Given the description of an element on the screen output the (x, y) to click on. 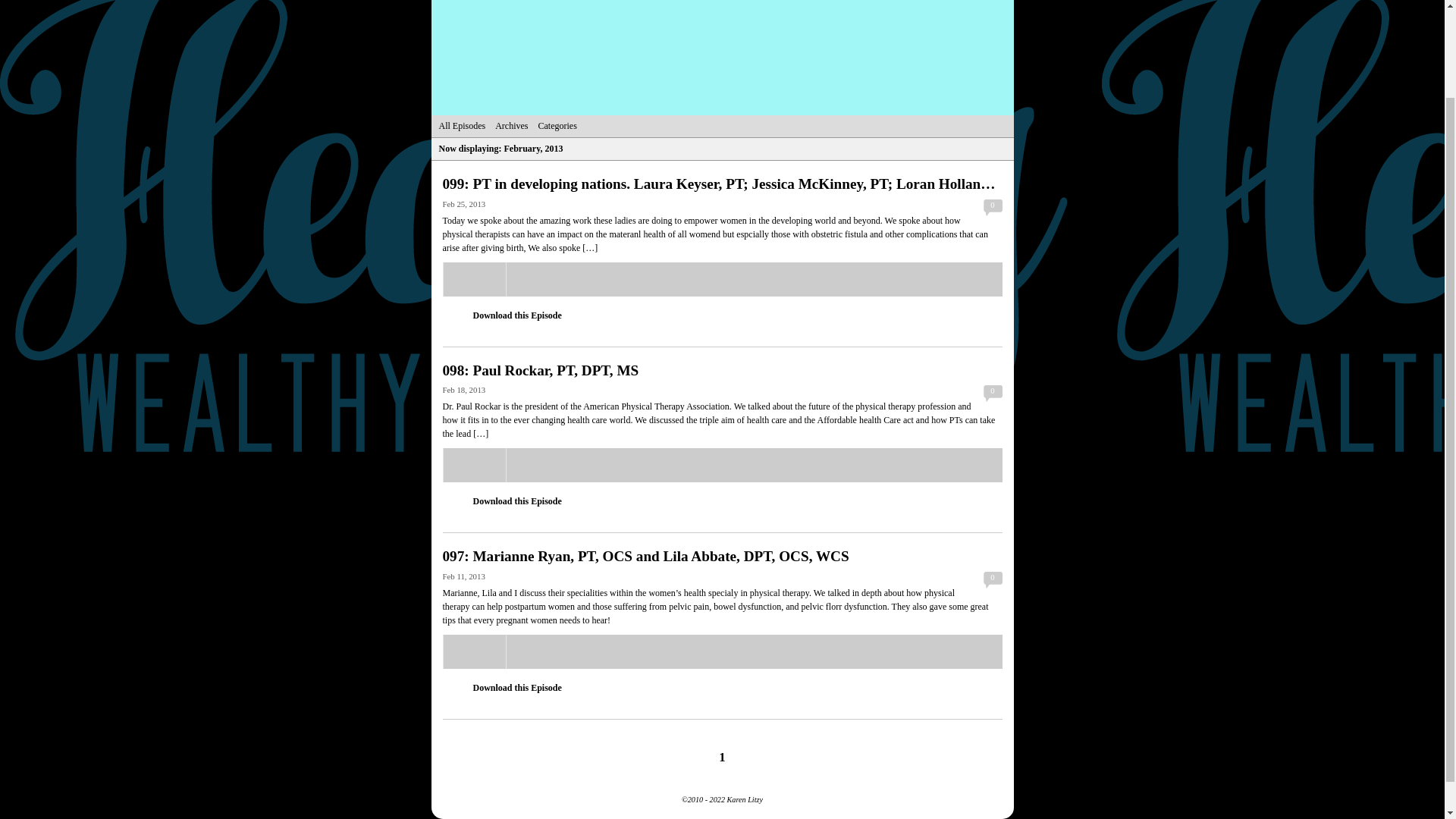
Libsyn Player (722, 464)
Libsyn Player (722, 279)
Libsyn Player (722, 651)
